Given the description of an element on the screen output the (x, y) to click on. 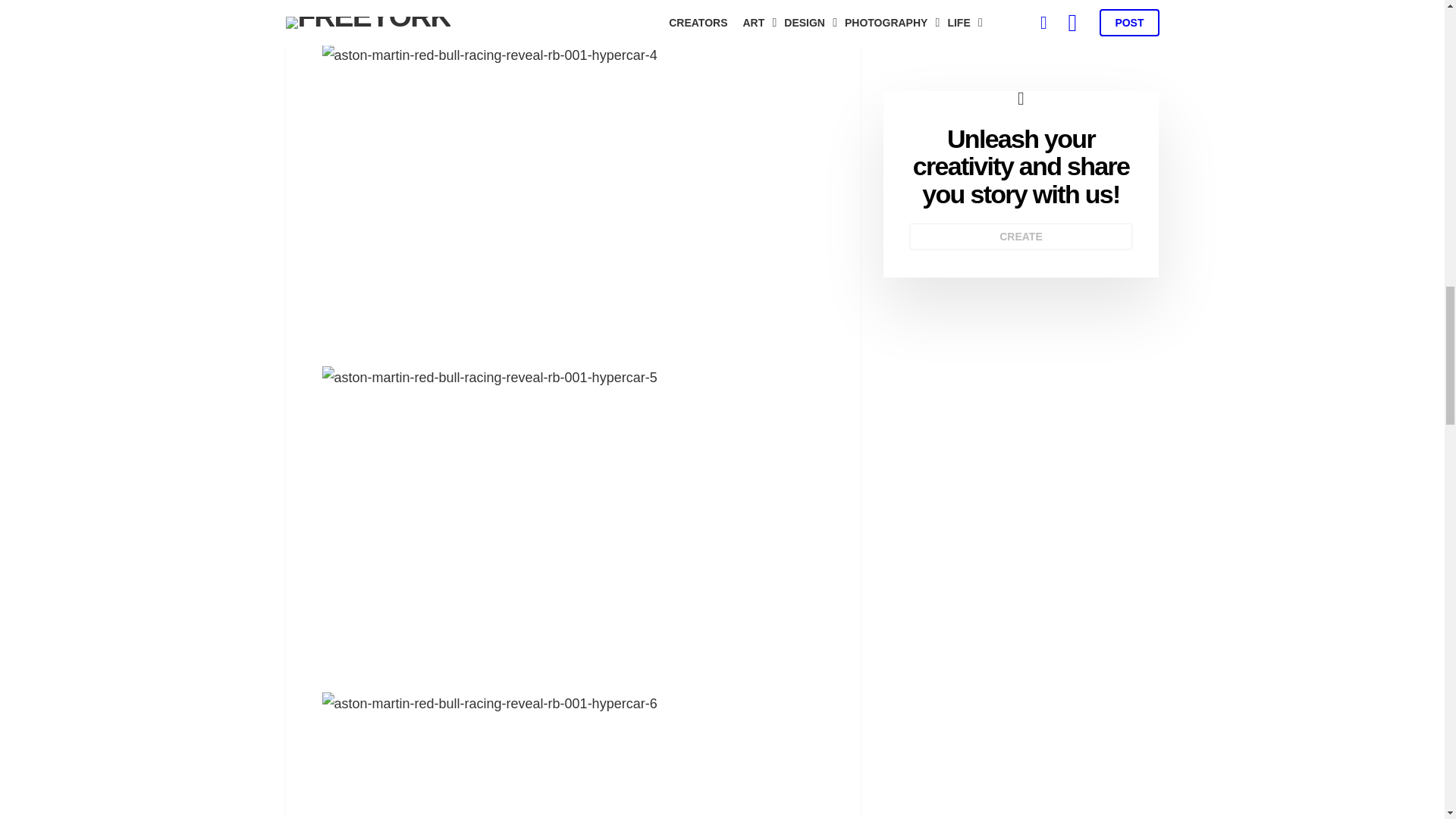
Aston Martin and Red Bull Racing Reveal AM-RB 001 Hypercar (572, 13)
Aston Martin and Red Bull Racing Reveal AM-RB 001 Hypercar (572, 755)
